Given the description of an element on the screen output the (x, y) to click on. 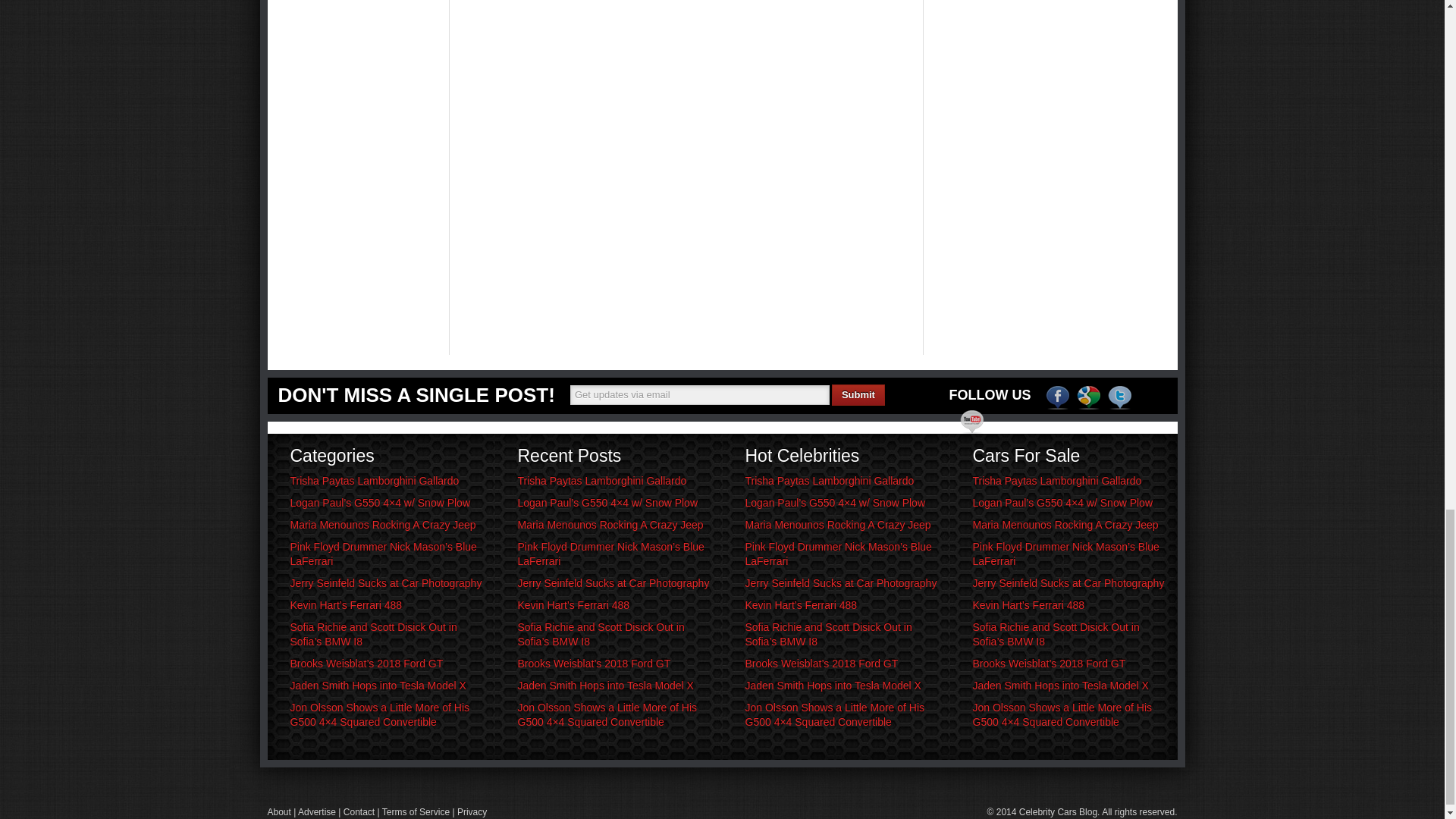
Get updates via email (699, 394)
Advertisement (1021, 15)
Submit (858, 394)
